Given the description of an element on the screen output the (x, y) to click on. 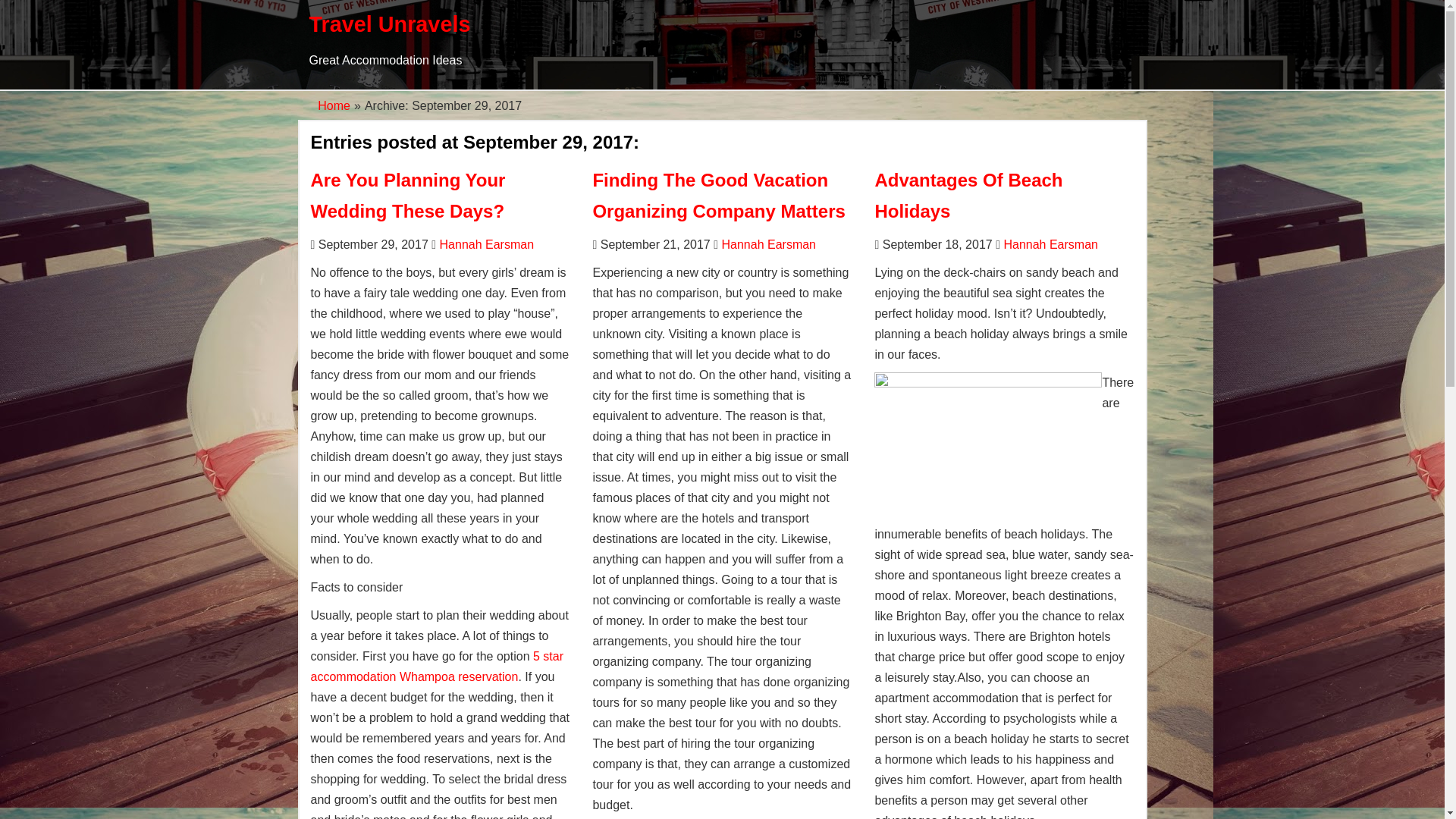
Posts by Hannah Earsman (486, 244)
Are You Planning Your Wedding These Days? (408, 195)
Hannah Earsman (769, 244)
Posts by Hannah Earsman (769, 244)
5 star accommodation Whampoa reservation (437, 666)
Home (333, 105)
brightonbay 5.jpg (988, 448)
Hannah Earsman (1050, 244)
Posts by Hannah Earsman (1050, 244)
Finding The Good Vacation Organizing Company Matters (718, 195)
Travel Unravels (389, 24)
Travel Unravels (389, 24)
Advantages Of Beach Holidays (968, 195)
Hannah Earsman (486, 244)
